Given the description of an element on the screen output the (x, y) to click on. 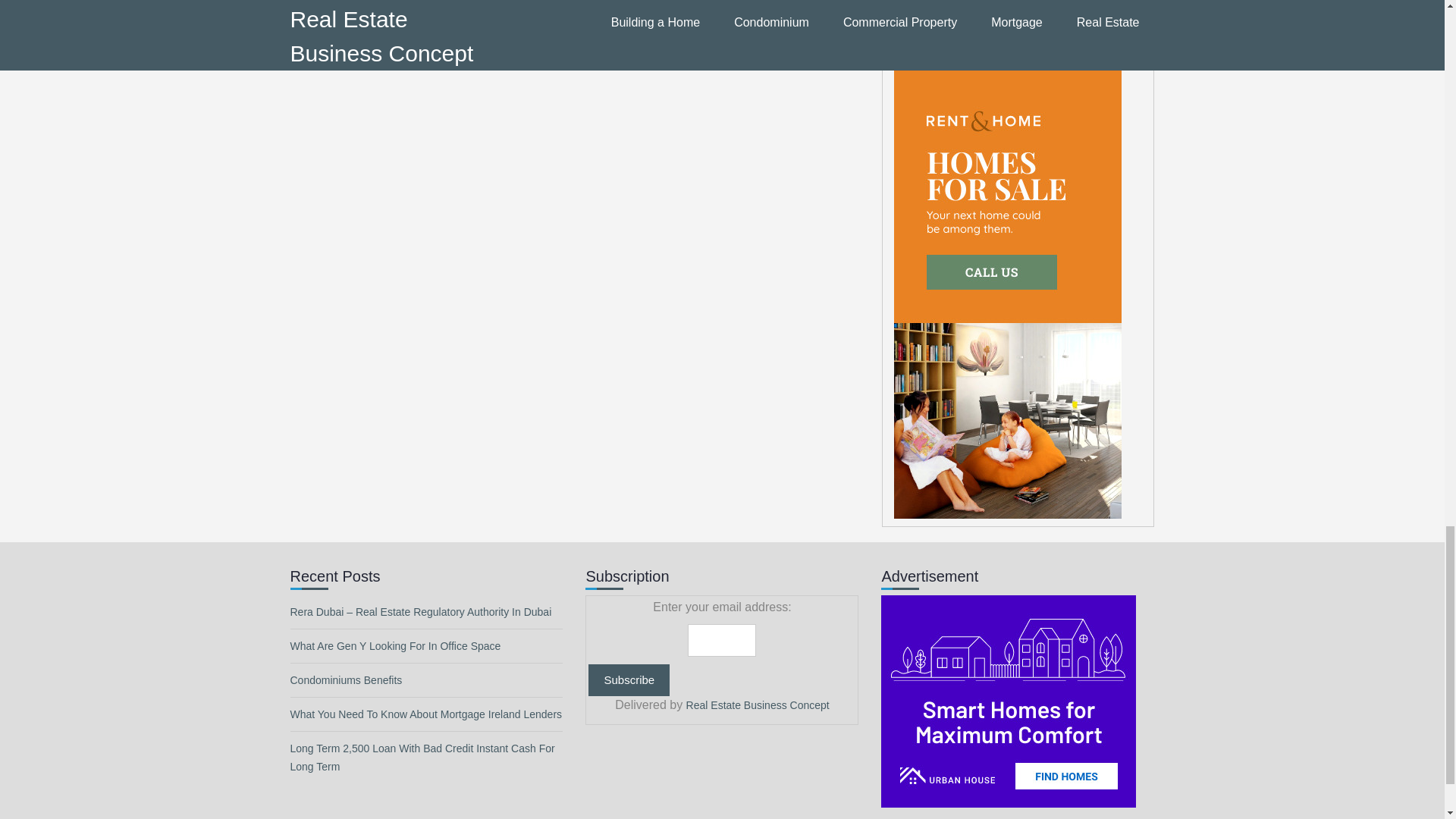
Subscribe (628, 680)
